Given the description of an element on the screen output the (x, y) to click on. 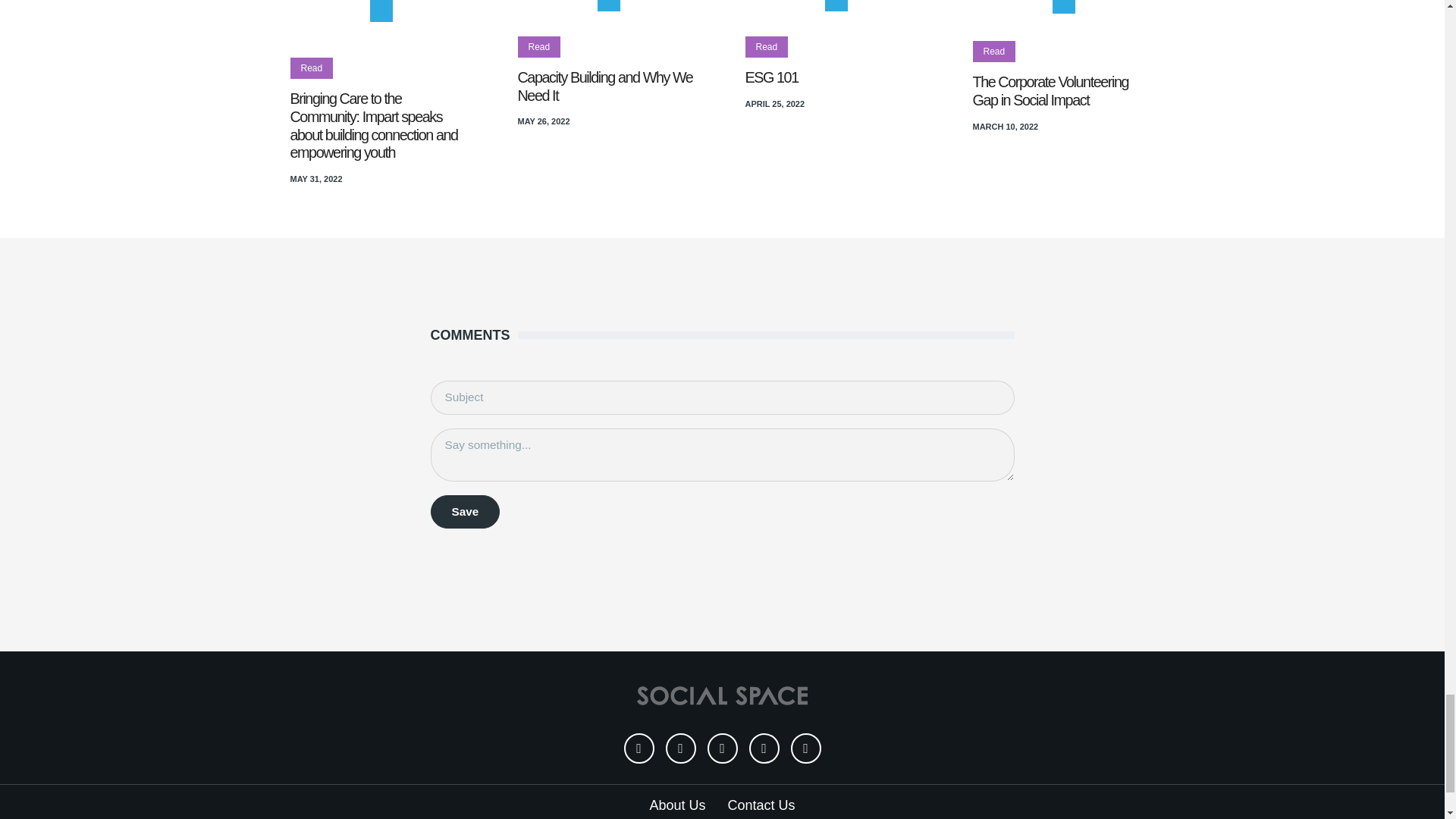
Save (465, 512)
Home (722, 695)
Read (538, 46)
Capacity Building and Why We Need It (604, 86)
Read (310, 68)
